Given the description of an element on the screen output the (x, y) to click on. 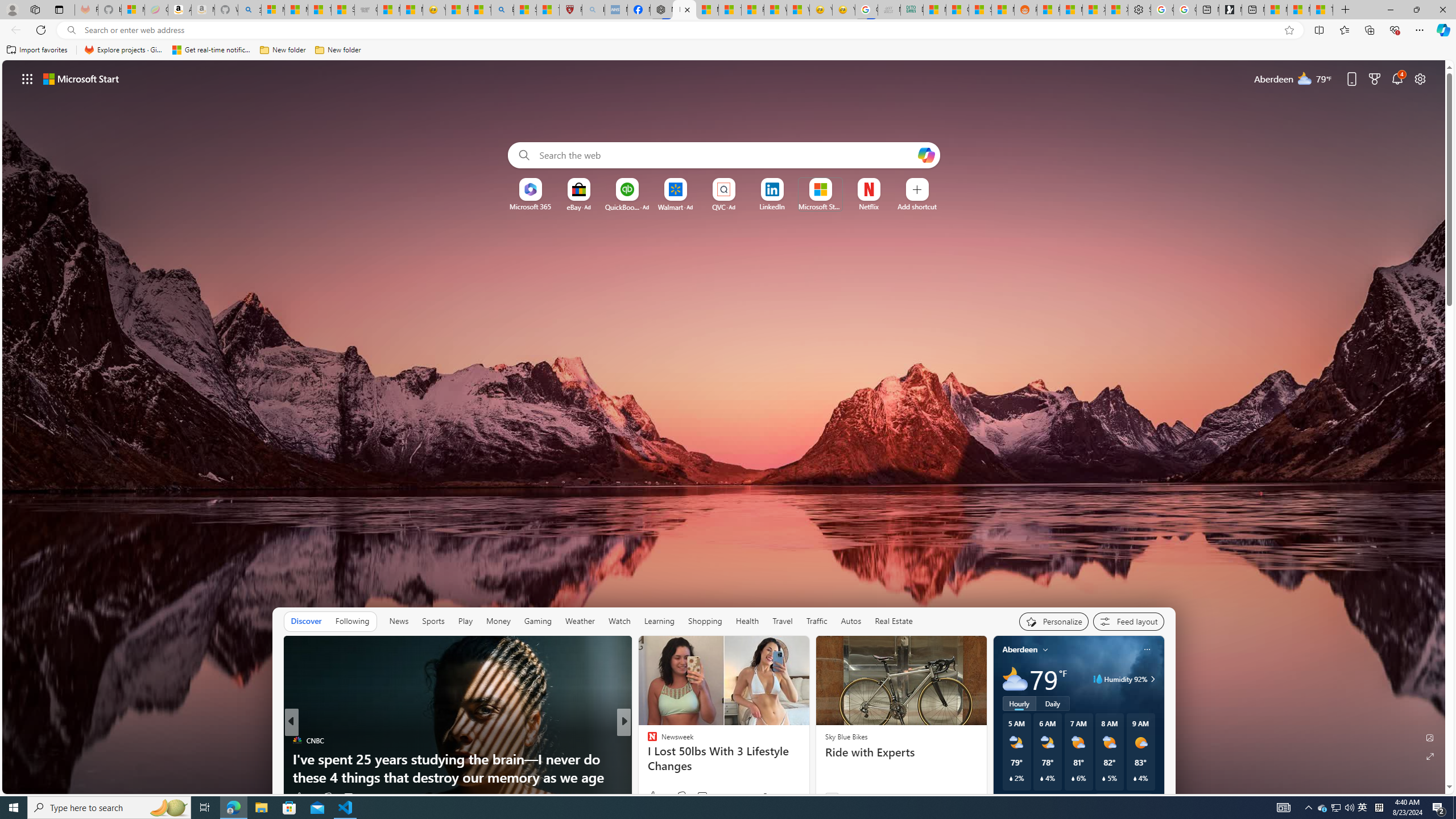
View comments 17 Comment (698, 797)
View comments 100 Comment (709, 796)
Sky Blue Bikes (845, 736)
Ride with Experts (900, 752)
save70.com (660, 740)
previous (998, 722)
Personalize your feed" (1054, 621)
View comments 9 Comment (698, 797)
App launcher (27, 78)
